Given the description of an element on the screen output the (x, y) to click on. 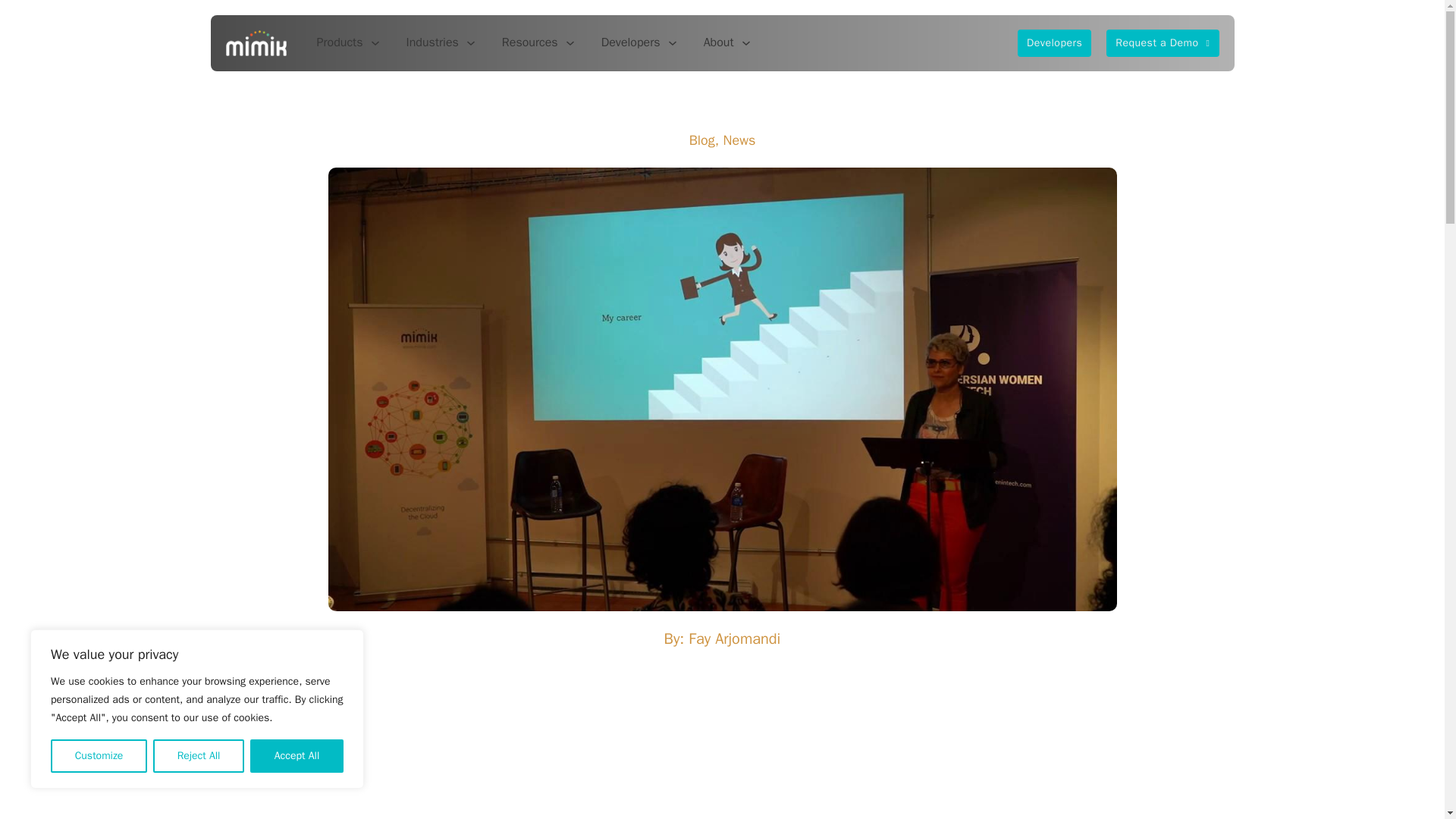
Accept All (296, 756)
Resources (529, 42)
Developers (631, 42)
Reject All (198, 756)
Products (339, 42)
Customize (98, 756)
